Given the description of an element on the screen output the (x, y) to click on. 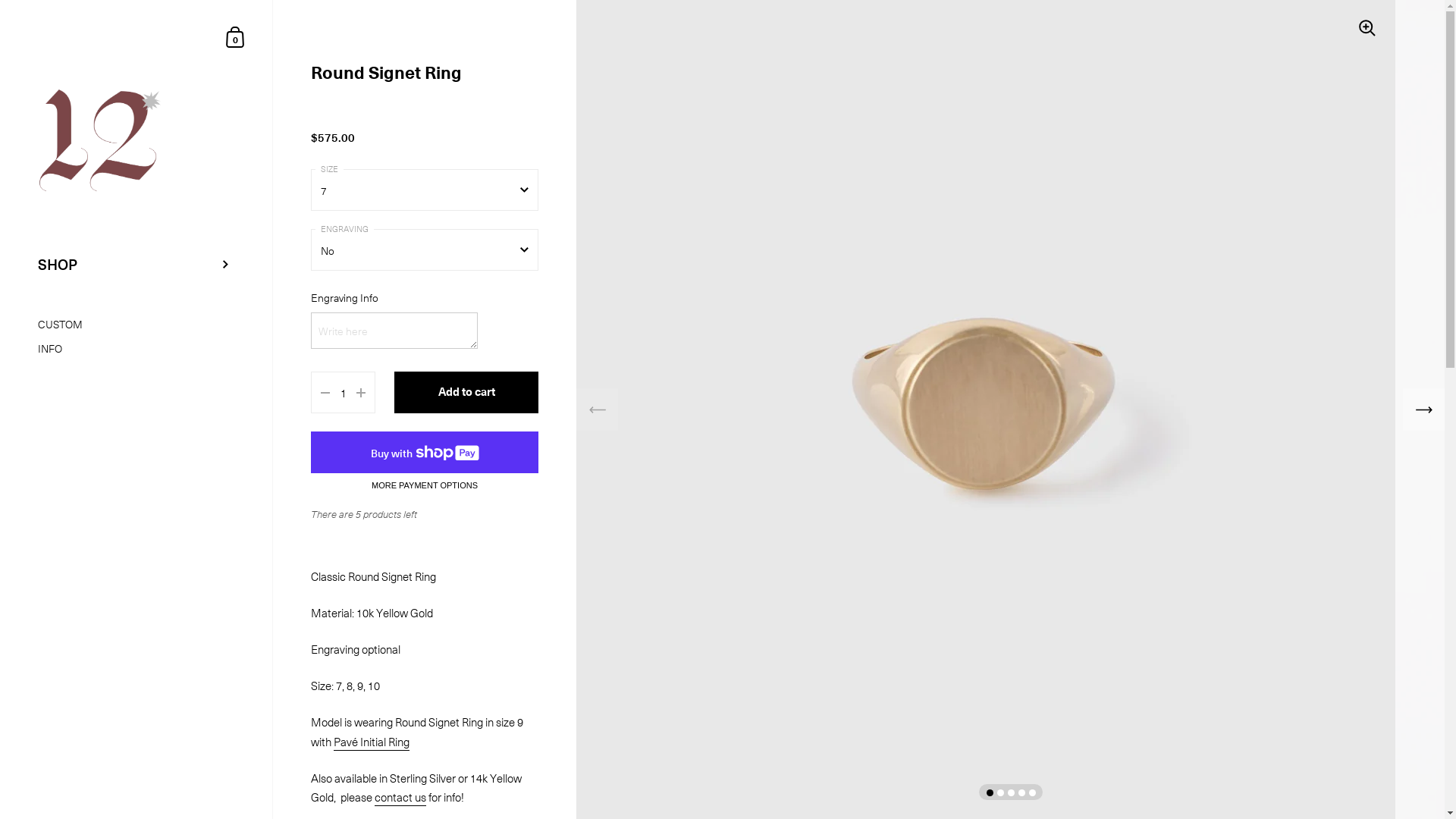
MORE PAYMENT OPTIONS Element type: text (424, 485)
Add to cart Element type: text (466, 392)
Shopping Cart
0 Element type: text (235, 36)
Skip to content Element type: text (0, 0)
contact us Element type: text (400, 797)
SHOP Element type: text (136, 265)
INFO Element type: text (136, 347)
CUSTOM Element type: text (136, 323)
